Given the description of an element on the screen output the (x, y) to click on. 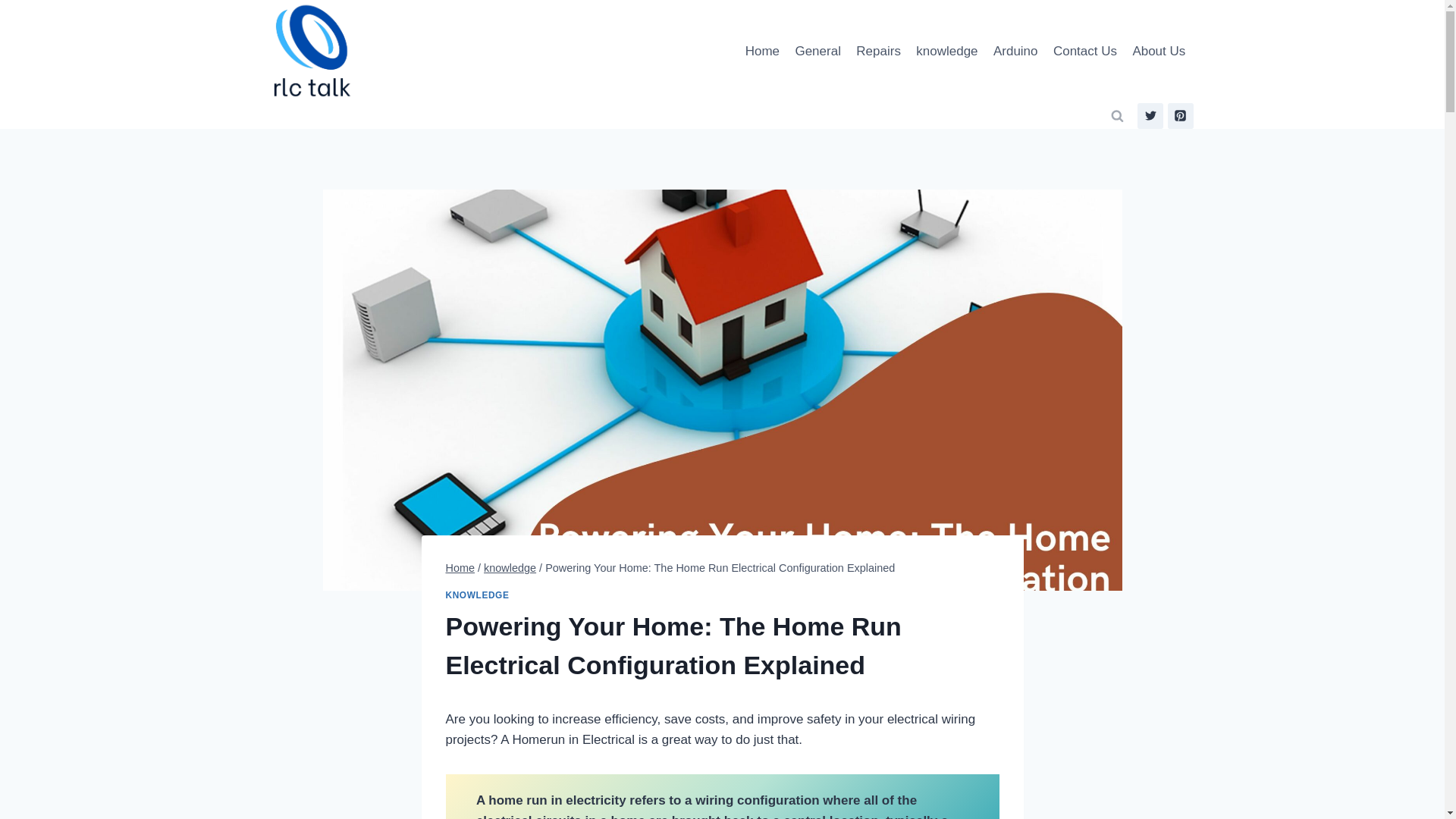
Arduino (1015, 51)
General (817, 51)
Repairs (878, 51)
knowledge (509, 567)
Contact Us (1084, 51)
knowledge (946, 51)
About Us (1158, 51)
Home (762, 51)
KNOWLEDGE (477, 594)
Home (460, 567)
